Given the description of an element on the screen output the (x, y) to click on. 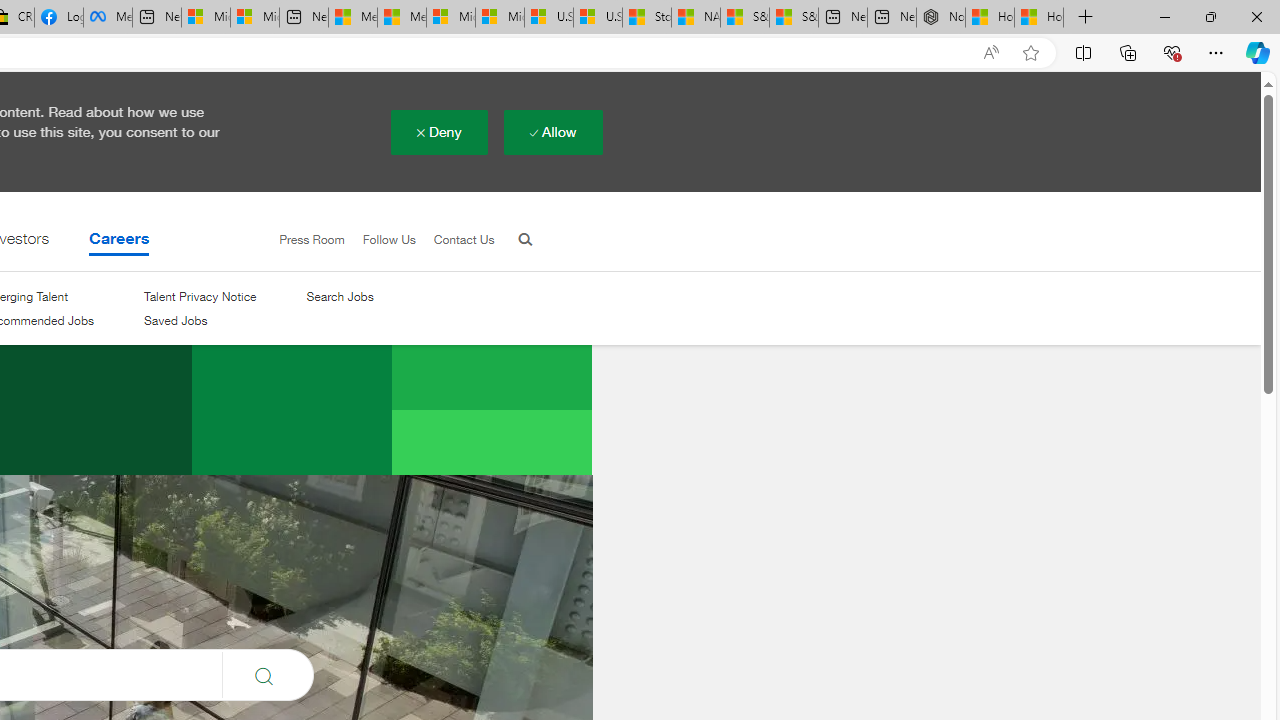
Contact Us (454, 240)
Log into Facebook (58, 17)
Search Jobs (339, 296)
Press Room (312, 239)
Follow Us (389, 239)
Saved Jobs (200, 321)
